Given the description of an element on the screen output the (x, y) to click on. 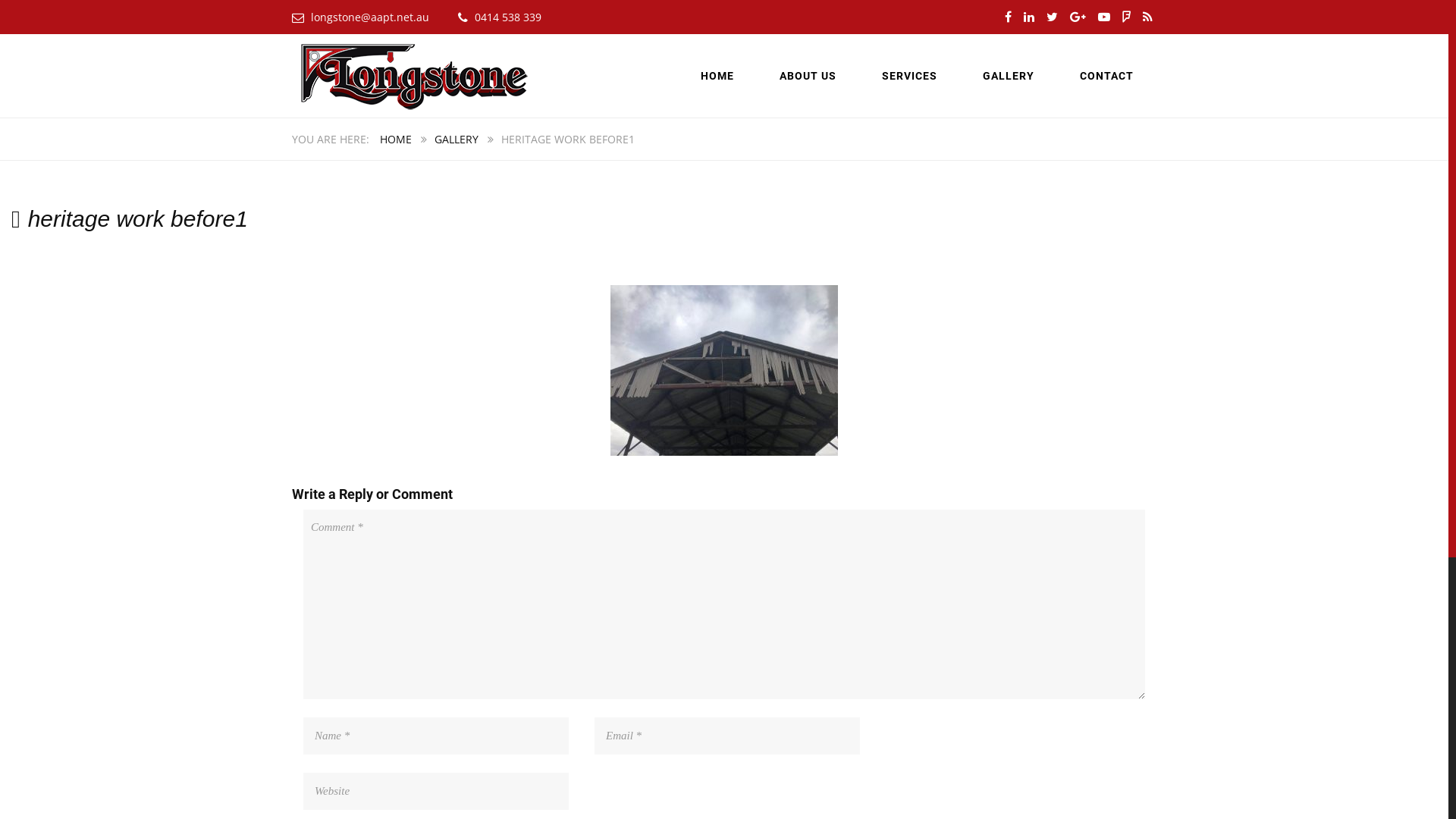
SERVICES Element type: text (909, 76)
GALLERY Element type: text (456, 138)
CONTACT Element type: text (1106, 76)
GALLERY Element type: text (1008, 76)
HOME Element type: text (395, 138)
ABOUT US Element type: text (807, 76)
HOME Element type: text (717, 76)
